Given the description of an element on the screen output the (x, y) to click on. 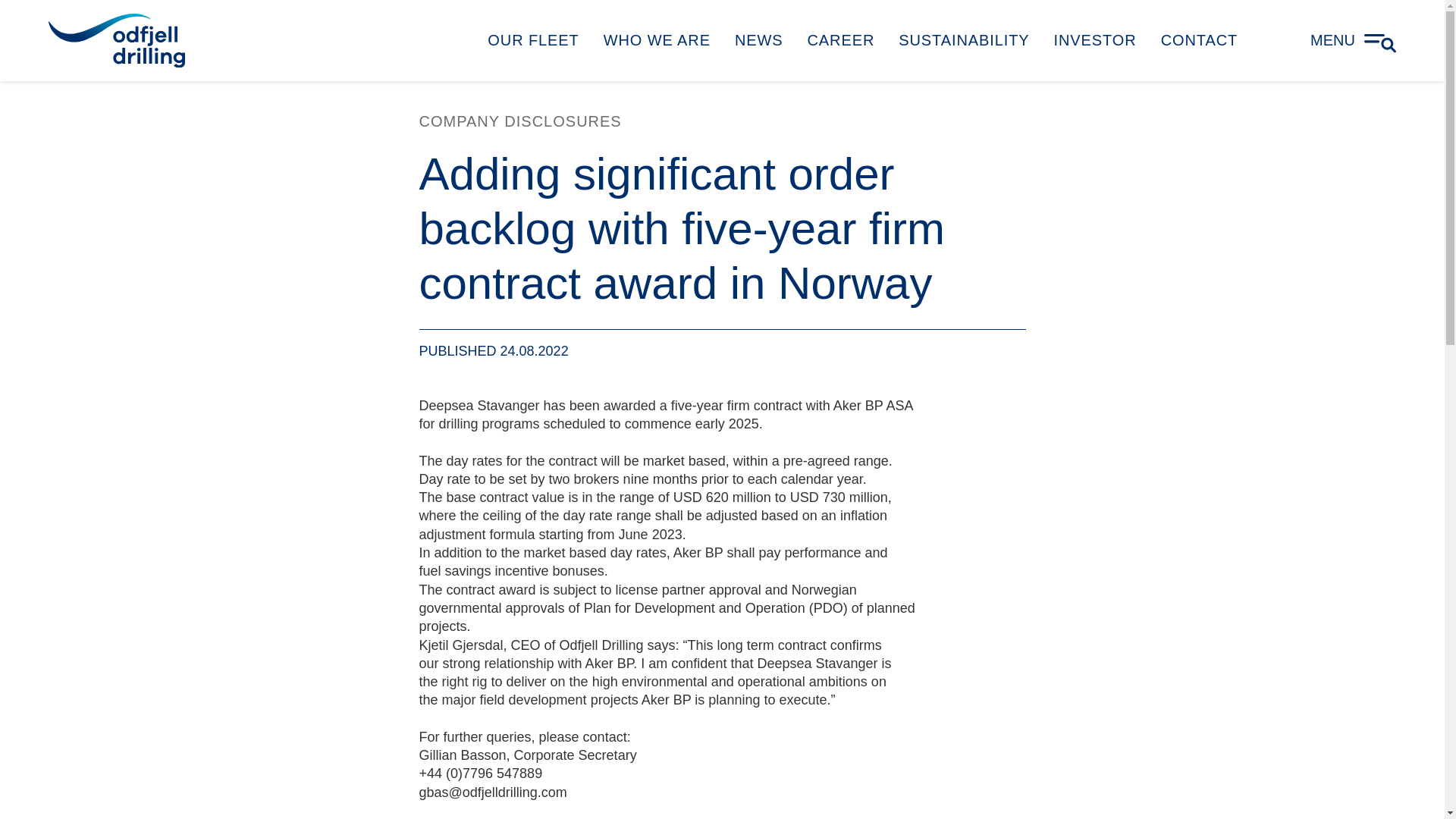
WHO WE ARE (656, 40)
CONTACT (1198, 40)
OUR FLEET (533, 40)
Go to front page (116, 40)
INVESTOR (1095, 40)
SUSTAINABILITY (963, 40)
MENU (1353, 39)
NEWS (758, 40)
CAREER (840, 40)
